Given the description of an element on the screen output the (x, y) to click on. 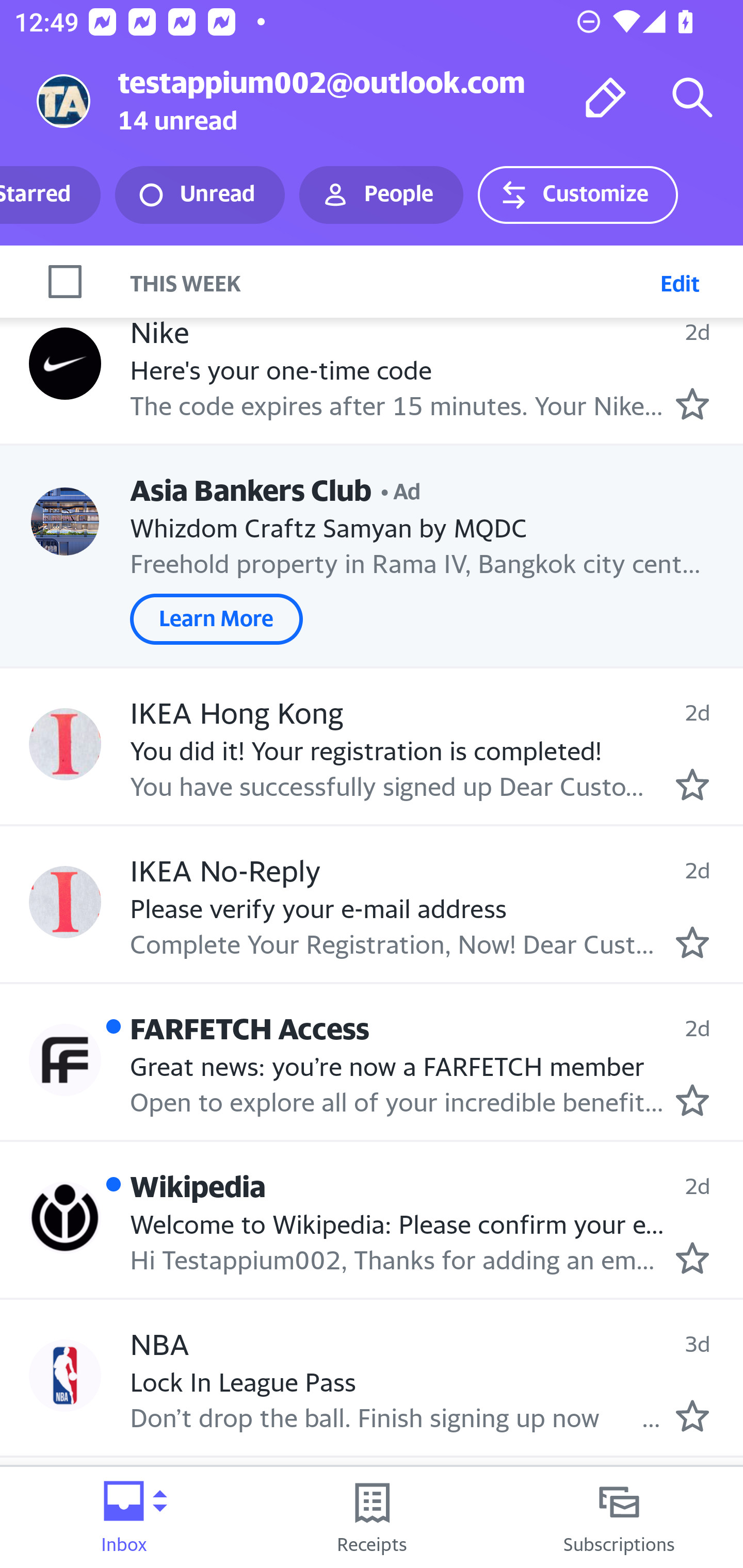
Compose (605, 97)
Search mail (692, 97)
Unread (199, 195)
People (381, 195)
Customize (577, 195)
Profile
Nike (64, 363)
Mark as starred. (692, 403)
Profile
IKEA Hong Kong (64, 744)
Mark as starred. (692, 784)
Profile
IKEA No-Reply (64, 901)
Mark as starred. (692, 941)
Profile
FARFETCH Access (64, 1059)
Mark as starred. (692, 1099)
Profile
Wikipedia (64, 1218)
Mark as starred. (692, 1258)
Profile
NBA (64, 1375)
Mark as starred. (692, 1415)
Inbox Folder picker (123, 1517)
Receipts (371, 1517)
Subscriptions (619, 1517)
